Given the description of an element on the screen output the (x, y) to click on. 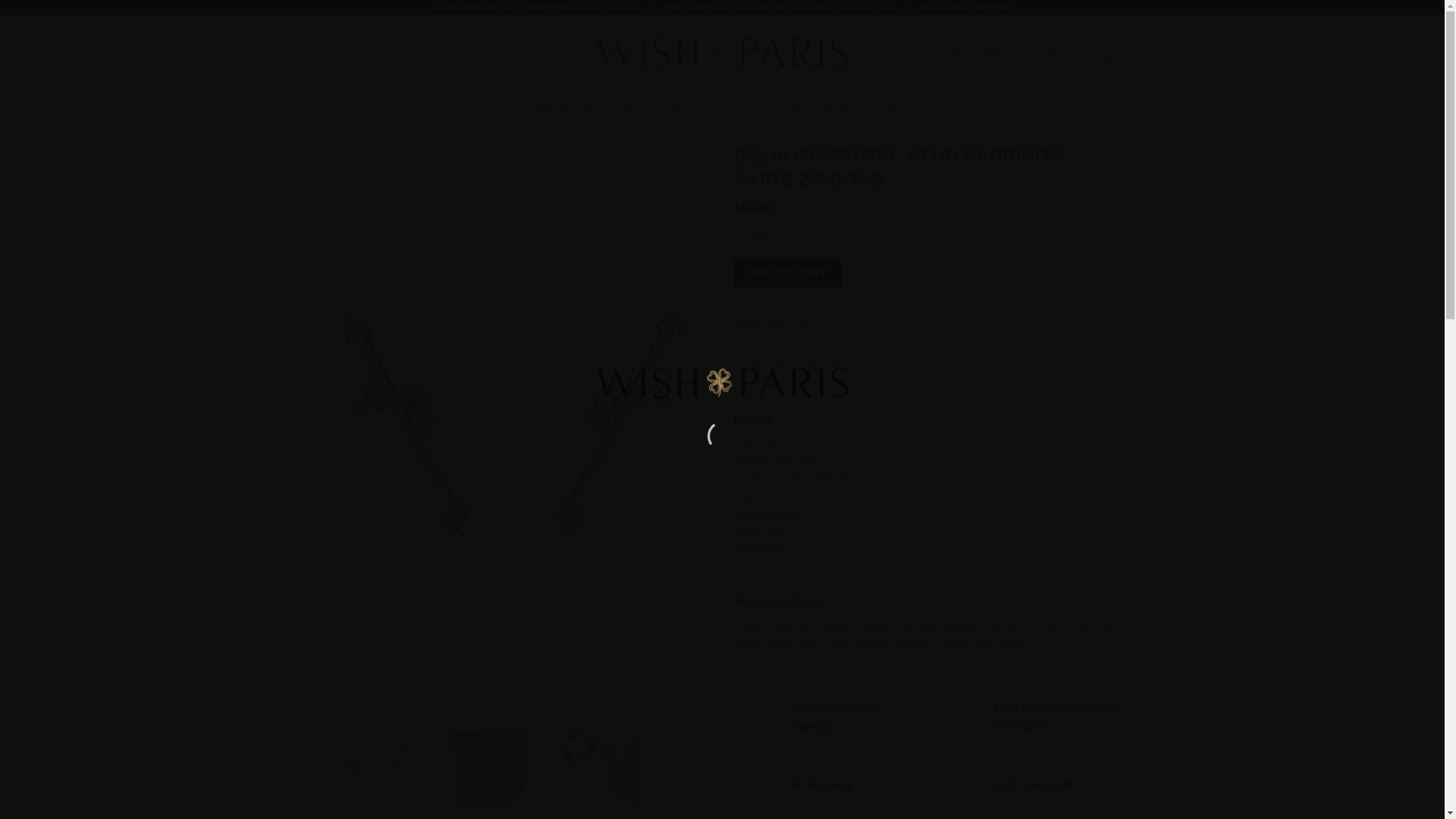
GIFT CARD (742, 105)
NEW ARRIVALS (568, 105)
FAQS (794, 105)
ADD TO CART (787, 273)
ABOUT (684, 105)
SHOP (636, 105)
CONTACT (887, 105)
Wish Paris Jewellery - Fine Jewellery for Women (721, 52)
Wish Paris Jewellery - Fine Jewellery for Women (721, 382)
BLOG (836, 105)
